Given the description of an element on the screen output the (x, y) to click on. 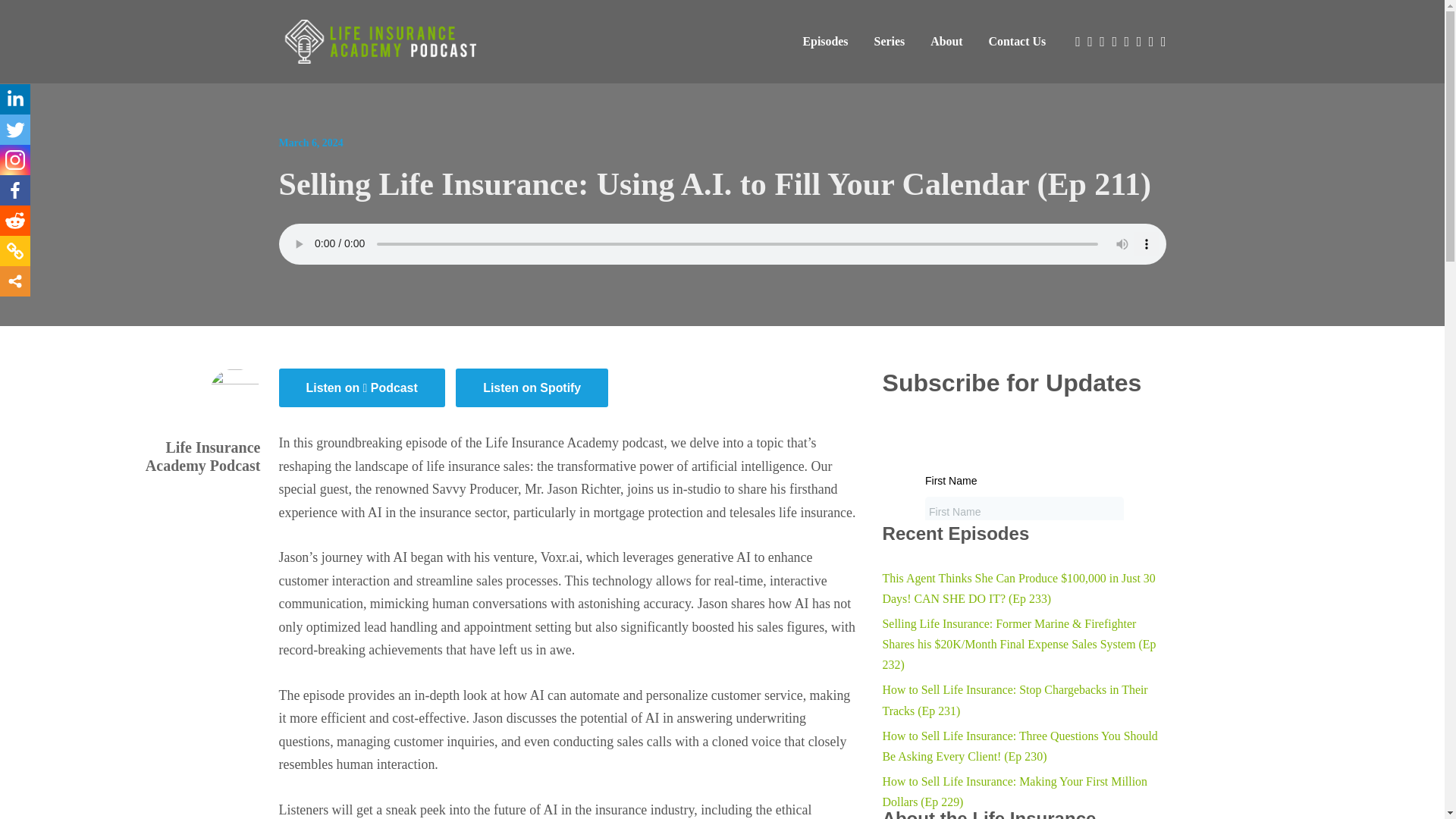
Facebook (15, 190)
Copy Link (15, 250)
Twitter (15, 129)
Listen on Spotify (531, 387)
Linkedin (15, 99)
Contact Us (1017, 41)
Instagram (15, 159)
More (15, 281)
Reddit (15, 220)
LIA Subscribe for updates (1024, 463)
